Given the description of an element on the screen output the (x, y) to click on. 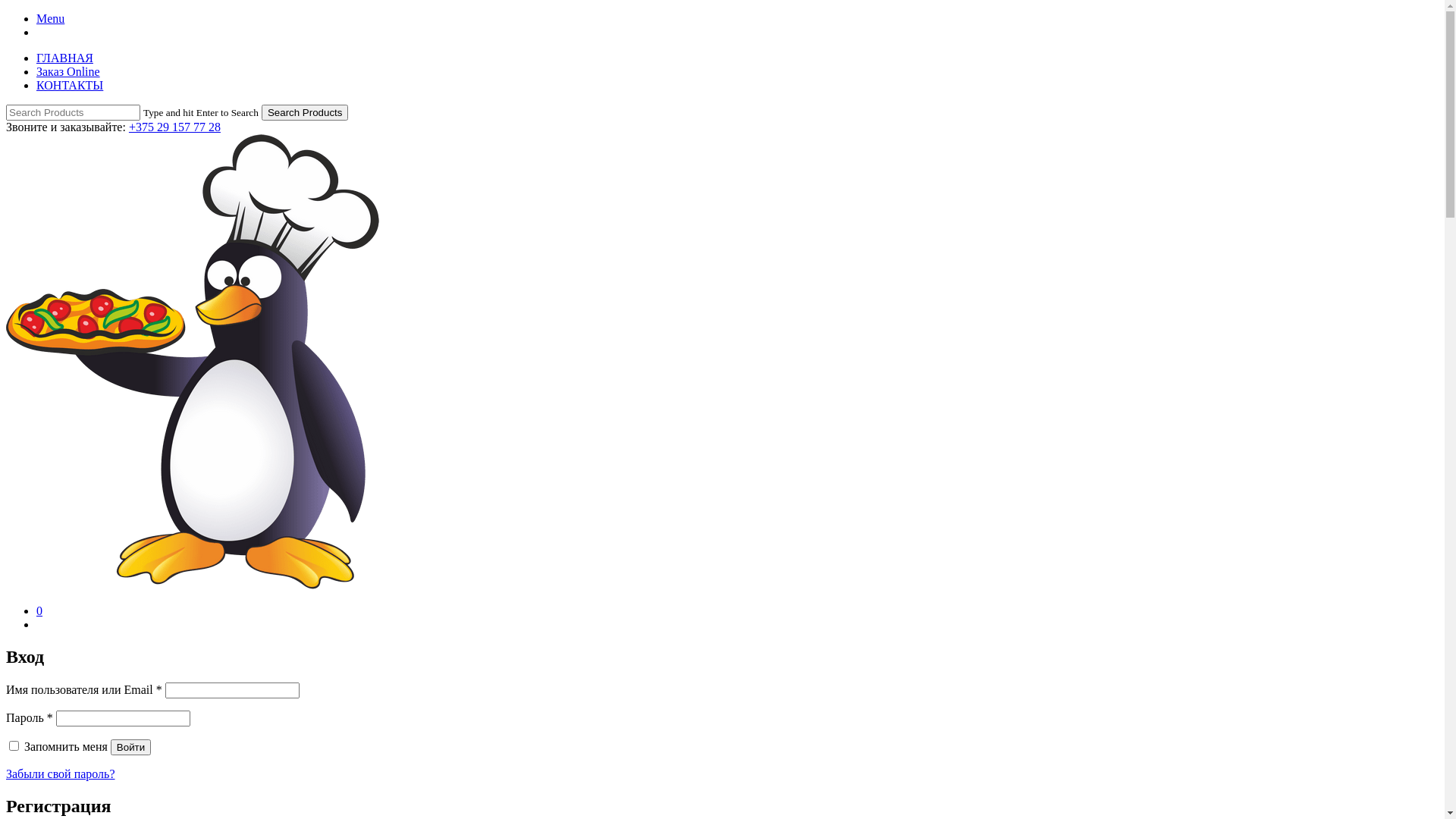
0 Element type: text (39, 610)
+375 29 157 77 28 Element type: text (174, 126)
Search Products Element type: text (304, 112)
Menu Element type: text (50, 18)
